Given the description of an element on the screen output the (x, y) to click on. 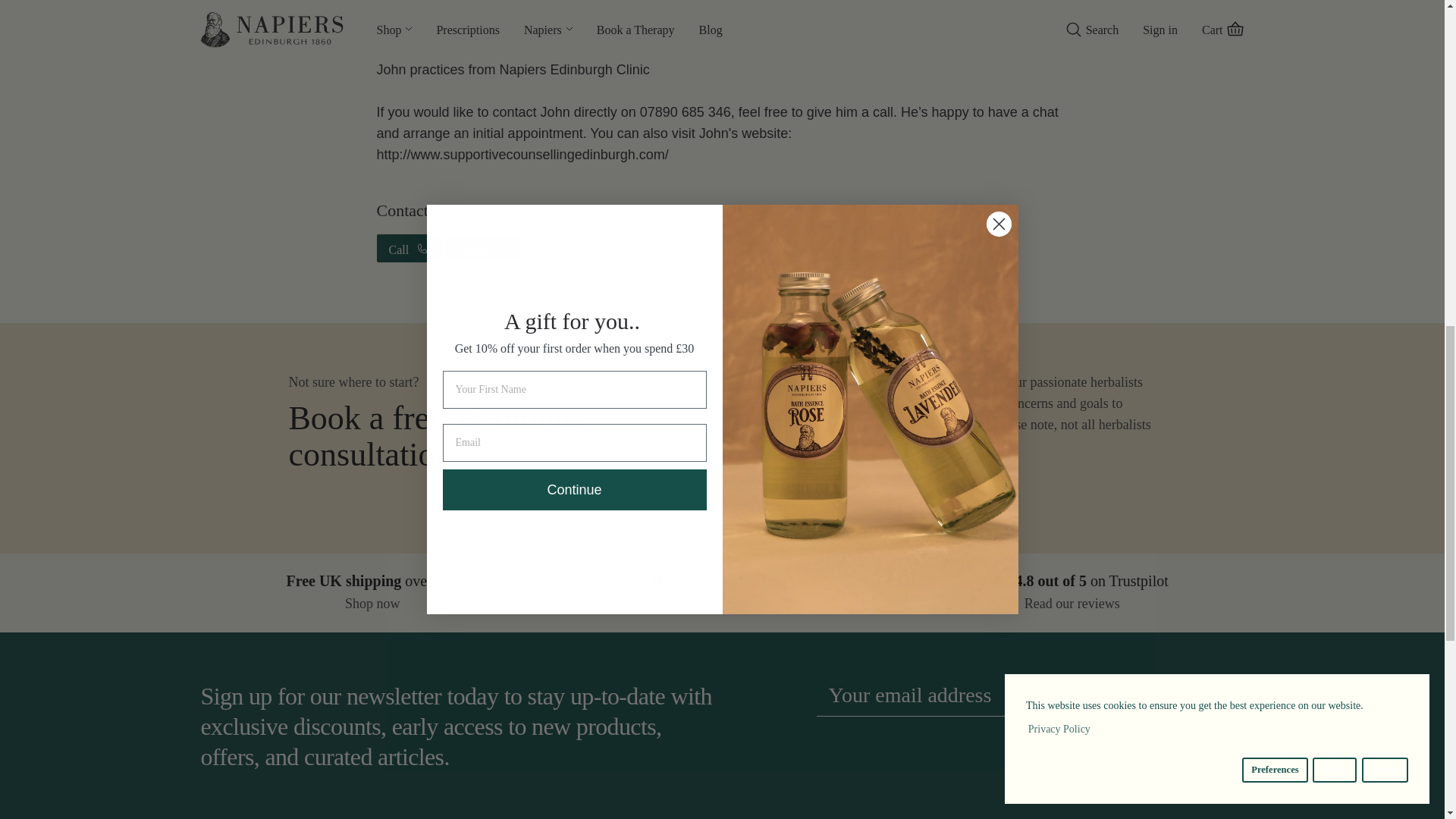
Submit (1192, 694)
